Given the description of an element on the screen output the (x, y) to click on. 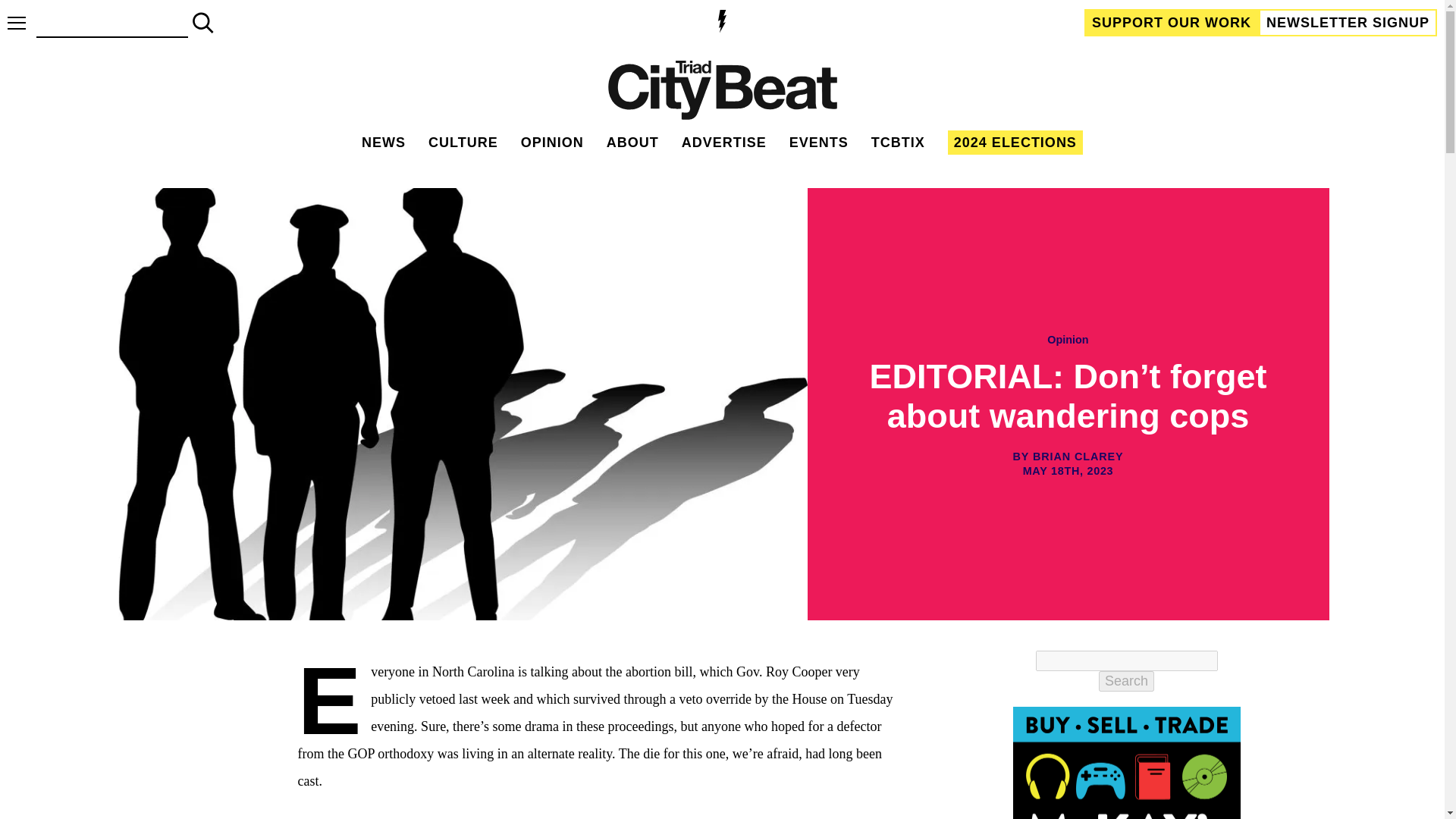
OPINION (552, 142)
CULTURE (462, 142)
May 18th, 2023 (1068, 471)
2024 ELECTIONS (1015, 142)
EVENTS (818, 142)
TCBTIX (897, 142)
NEWS (383, 142)
NEWSLETTER SIGNUP (1348, 22)
Search (1126, 680)
SUPPORT OUR WORK (1171, 22)
